Given the description of an element on the screen output the (x, y) to click on. 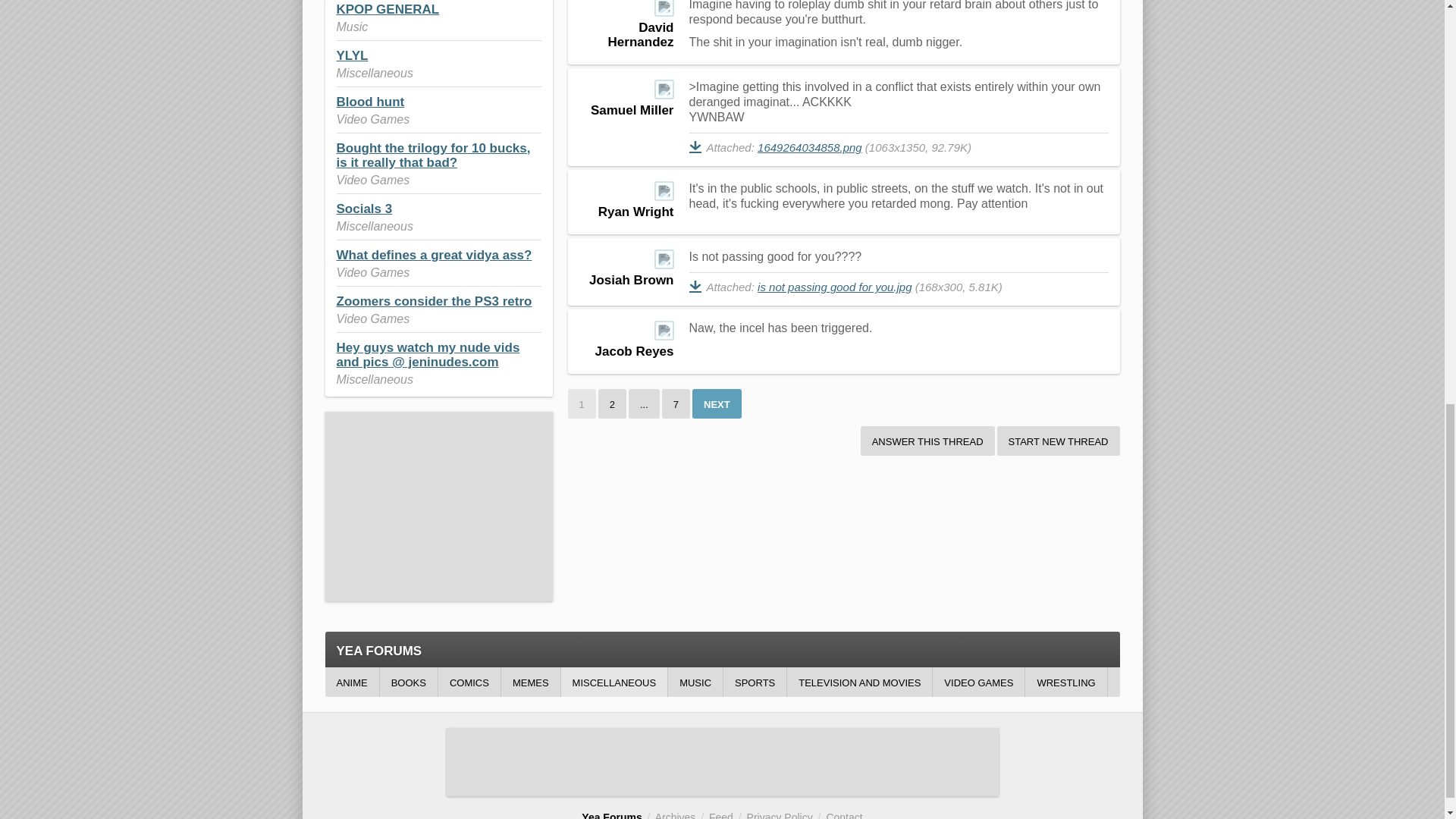
NEXT (717, 403)
2 (612, 403)
Zoomers consider the PS3 retro (434, 301)
KPOP GENERAL (387, 9)
YLYL (352, 55)
1649264034858.png (809, 146)
Bought the trilogy for 10 bucks, is it really that bad? (433, 154)
What defines a great vidya ass? (434, 255)
... (643, 403)
START NEW THREAD (1058, 440)
